Given the description of an element on the screen output the (x, y) to click on. 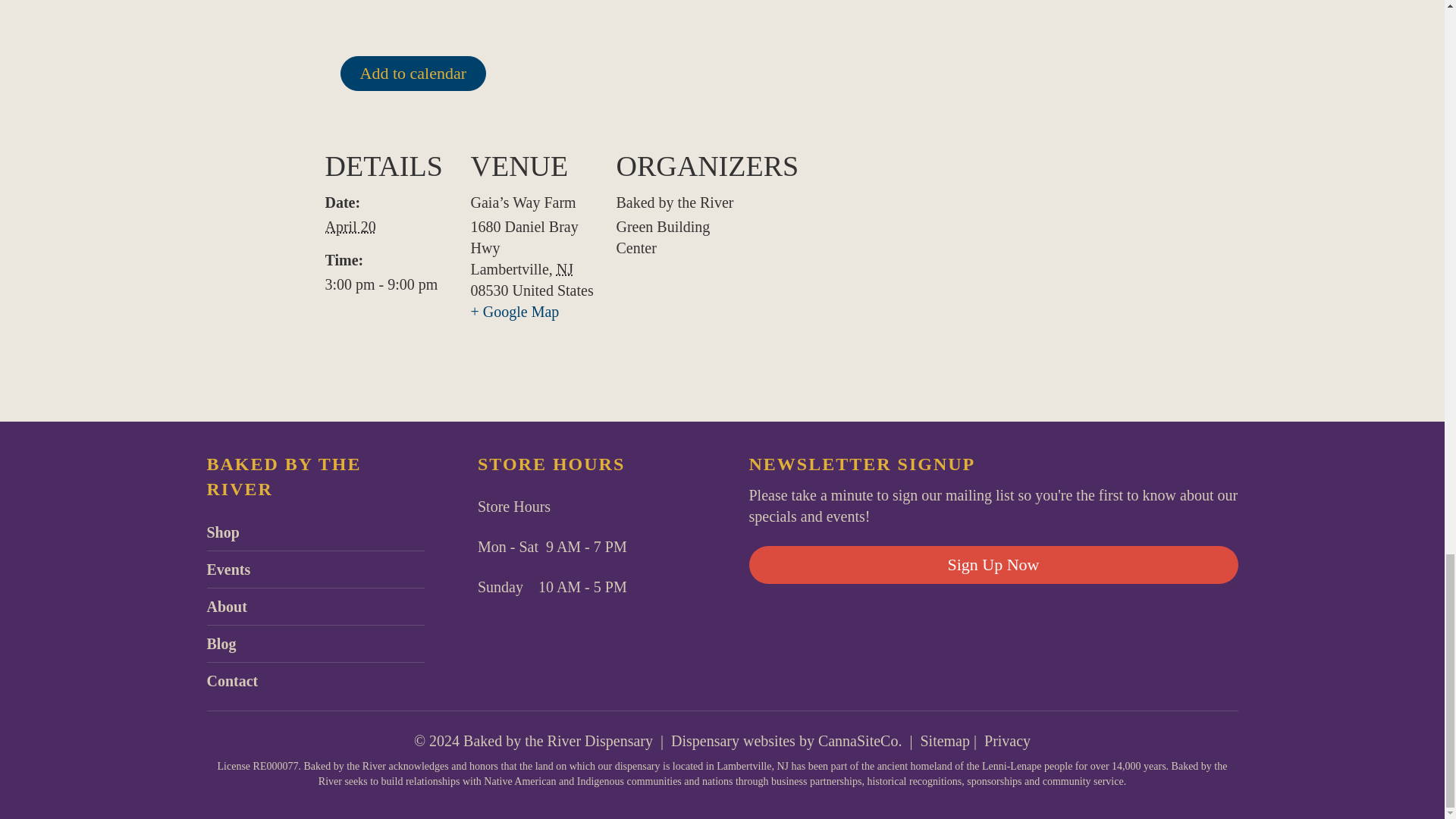
Add to calendar (412, 73)
2024-04-20 (349, 226)
About (226, 606)
Contact (231, 680)
Blog (220, 643)
Click to view a Google Map (514, 311)
New Jersey (564, 269)
Events (228, 569)
Shop (222, 532)
2024-04-20 (387, 283)
